Given the description of an element on the screen output the (x, y) to click on. 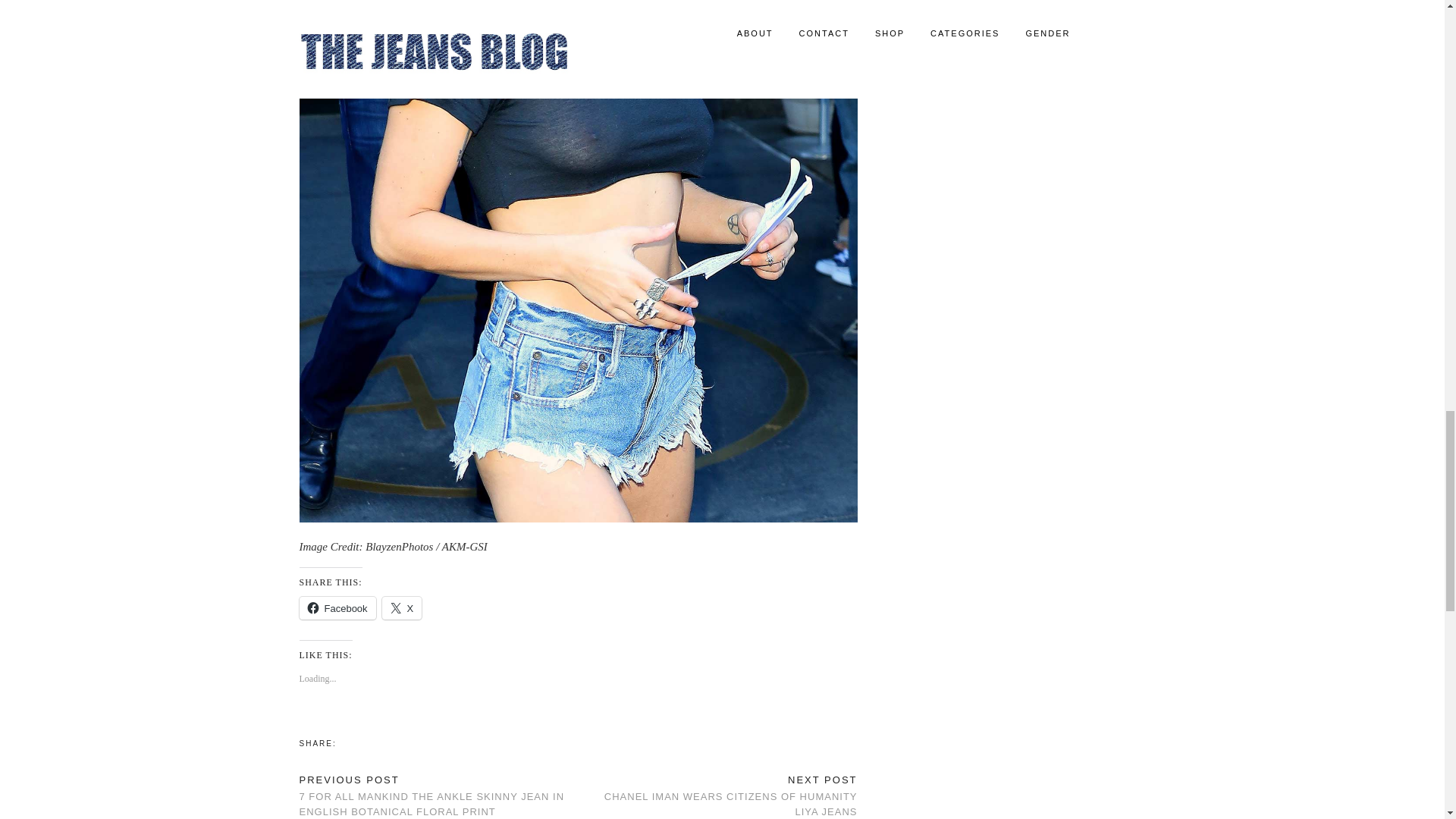
Click to share on Facebook (336, 608)
Click to share on X (401, 608)
